Given the description of an element on the screen output the (x, y) to click on. 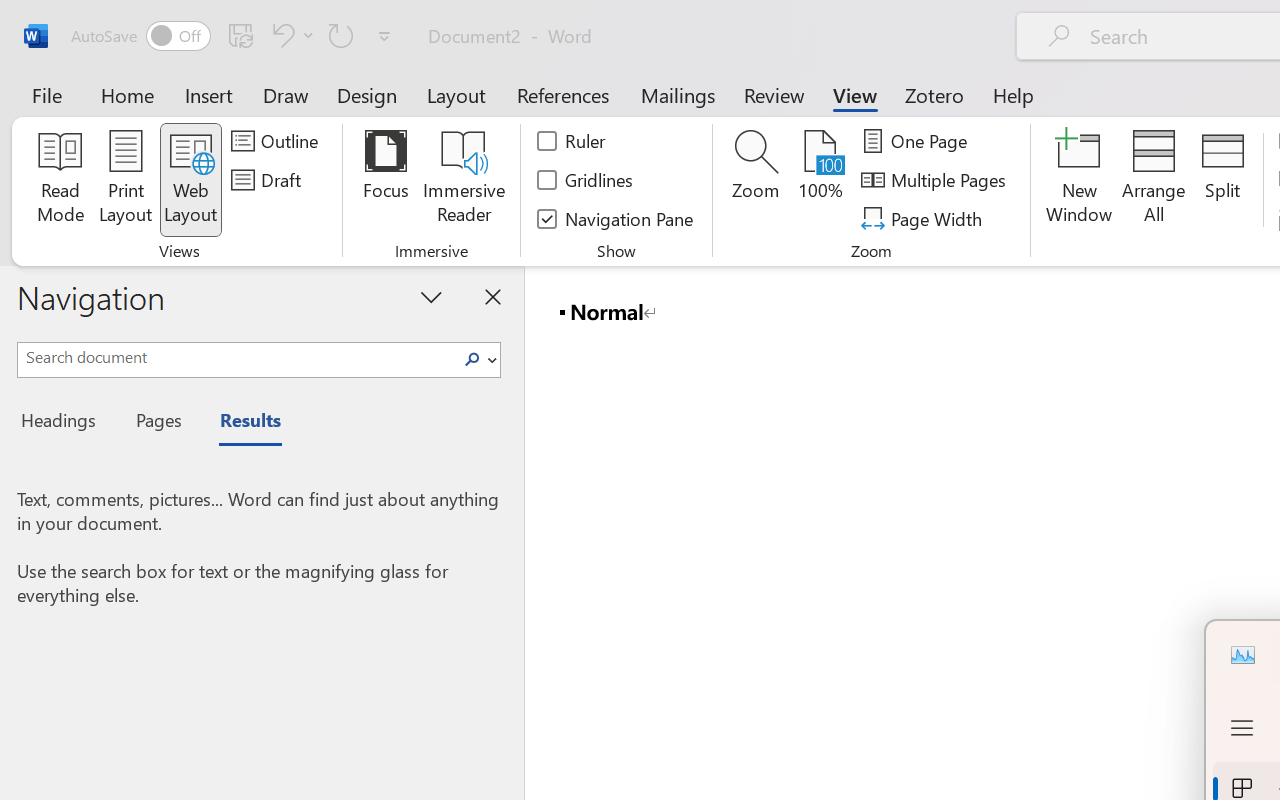
Focus (385, 179)
100% (820, 179)
Ruler (572, 141)
Task Pane Options (431, 296)
